Given the description of an element on the screen output the (x, y) to click on. 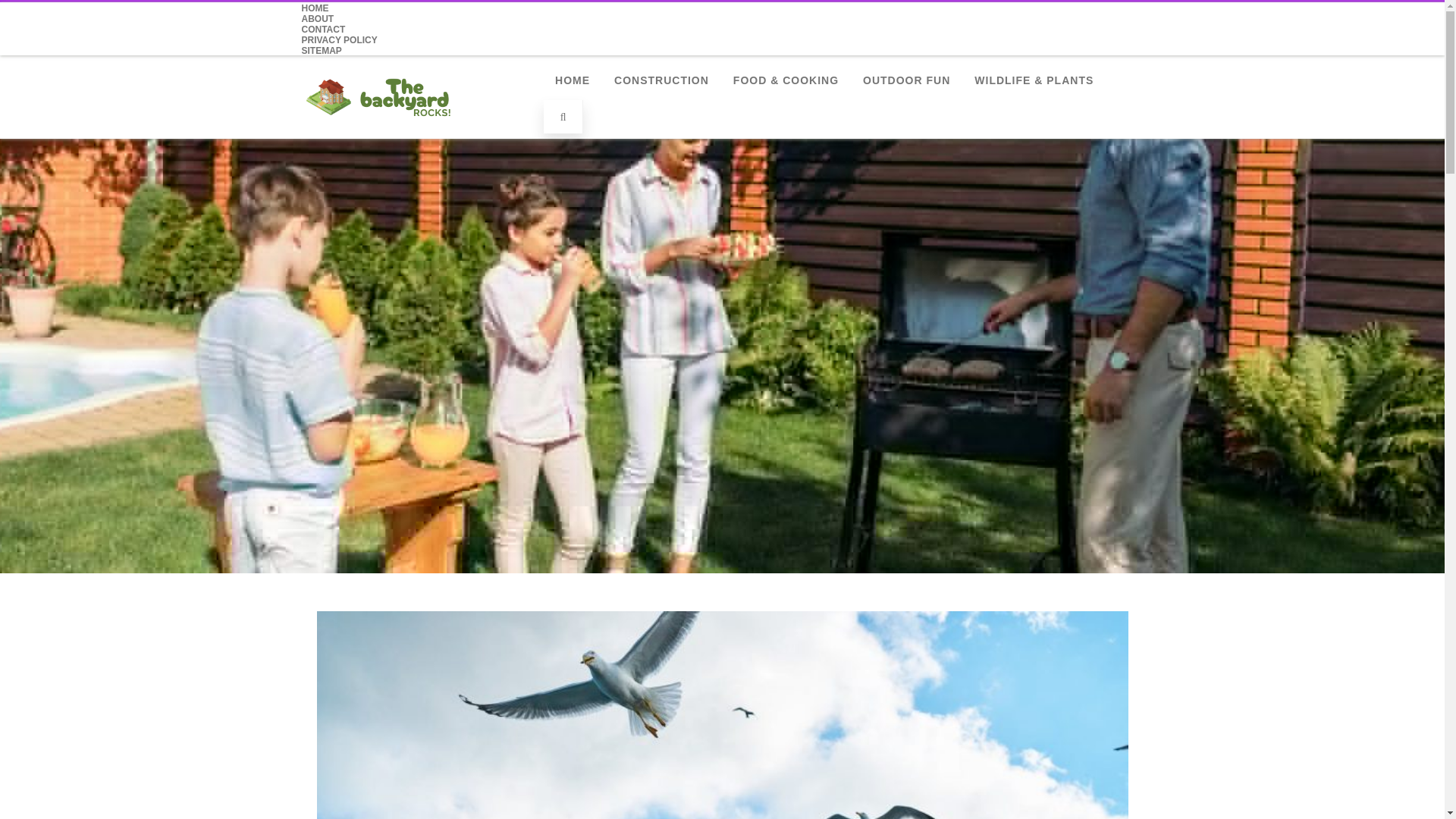
CONTACT (323, 29)
SITEMAP (321, 50)
PRIVACY POLICY (339, 40)
HOME (572, 79)
HOME (315, 8)
The Backyard Rocks (417, 132)
OUTDOOR FUN (905, 79)
CONSTRUCTION (661, 79)
ABOUT (317, 18)
